Given the description of an element on the screen output the (x, y) to click on. 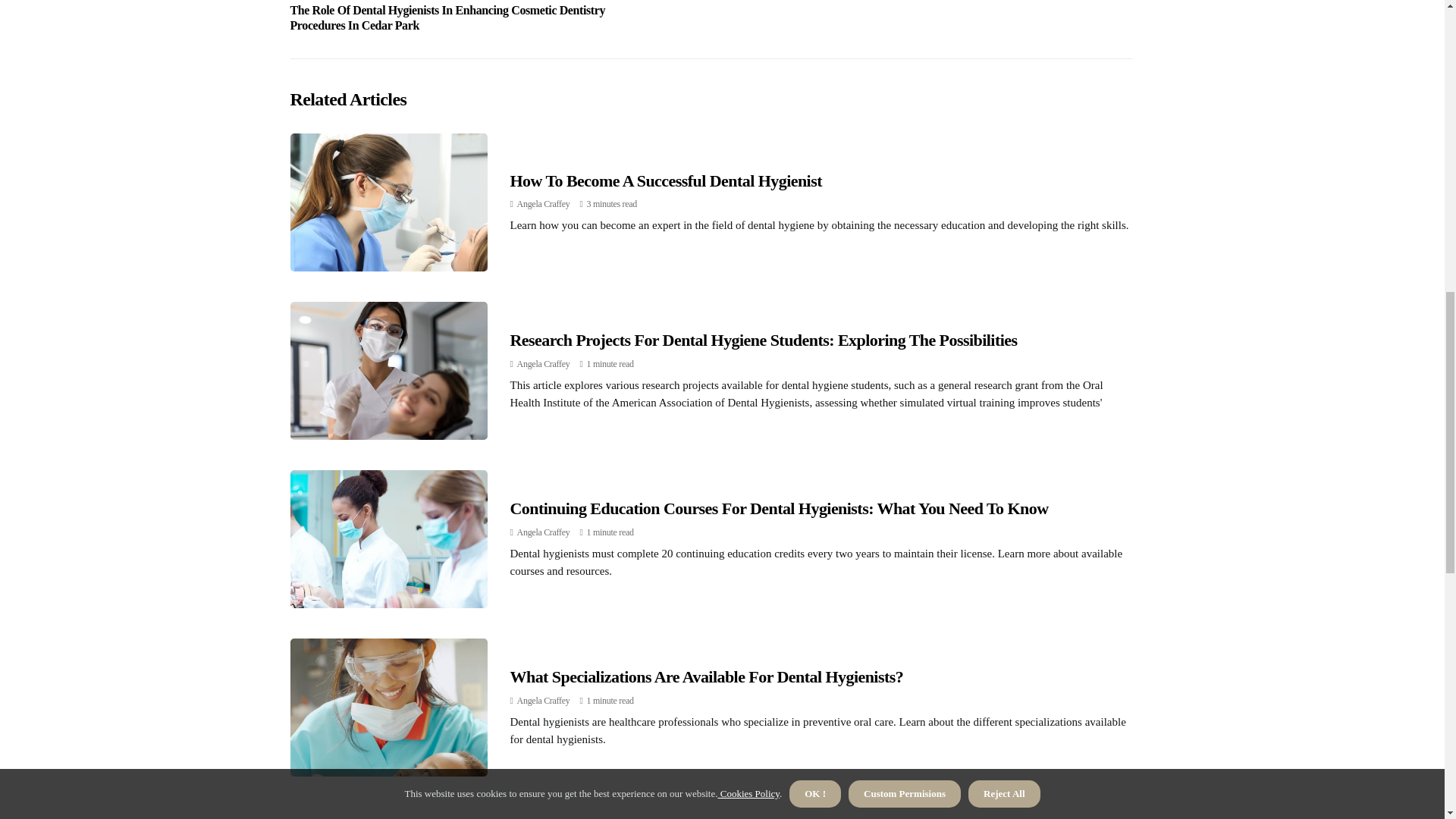
Angela Craffey (543, 532)
Posts by Angela Craffey (543, 363)
What Specializations Are Available For Dental Hygienists? (705, 676)
Posts by Angela Craffey (543, 700)
Angela Craffey (543, 363)
How To Become A Successful Dental Hygienist (665, 180)
Posts by Angela Craffey (543, 532)
